Given the description of an element on the screen output the (x, y) to click on. 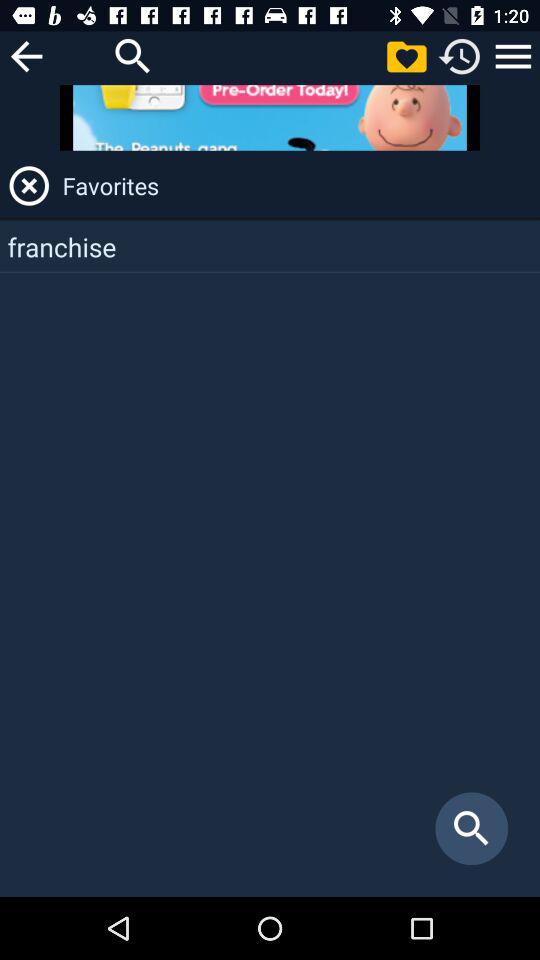
close favorites (29, 185)
